Given the description of an element on the screen output the (x, y) to click on. 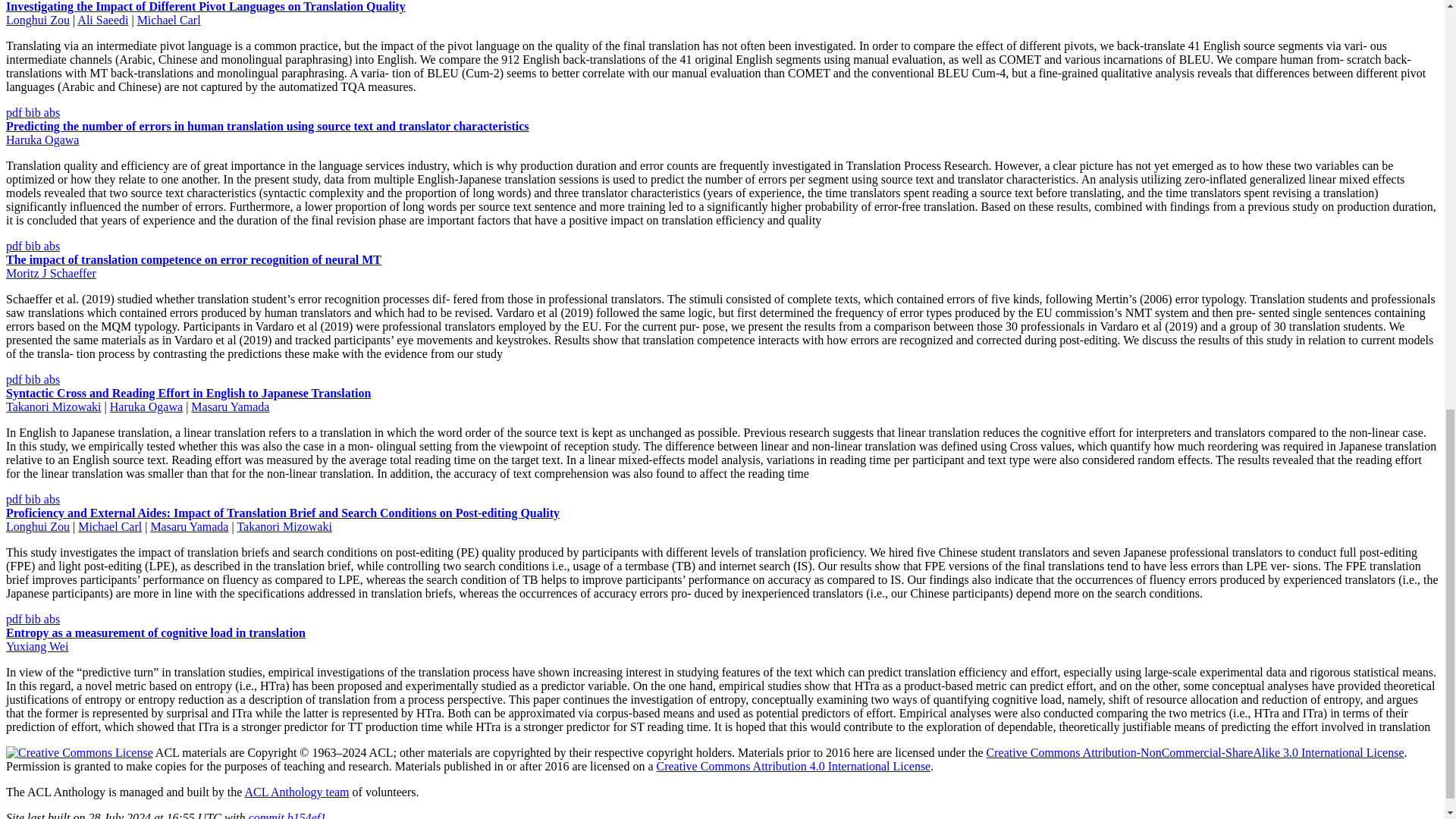
Open PDF (14, 112)
Show Abstract (51, 112)
Export to BibTeX (33, 245)
Open PDF (14, 245)
Show Abstract (51, 245)
Export to BibTeX (33, 112)
